Given the description of an element on the screen output the (x, y) to click on. 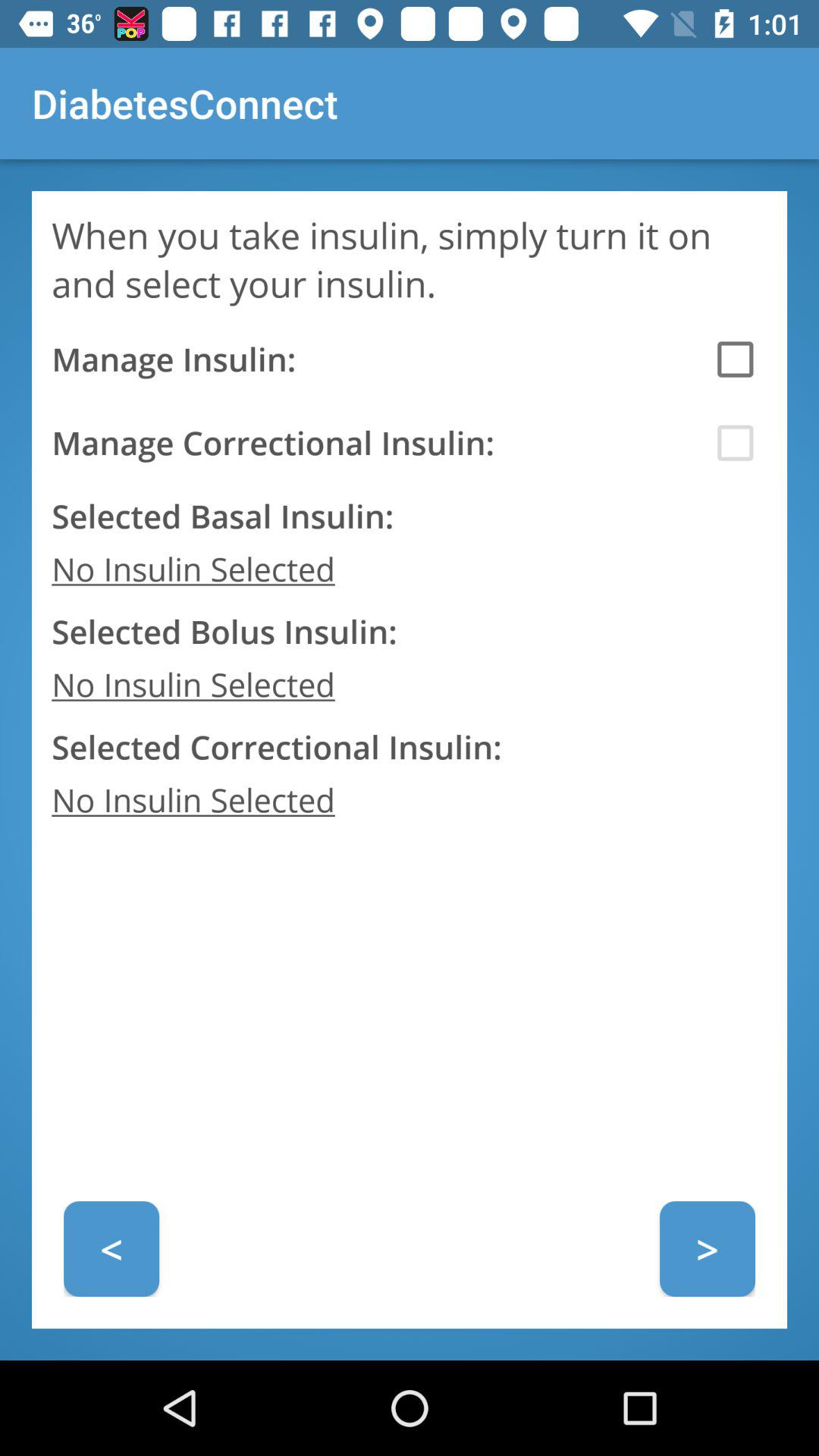
click on first check box in diabetes connect (735, 359)
